Given the description of an element on the screen output the (x, y) to click on. 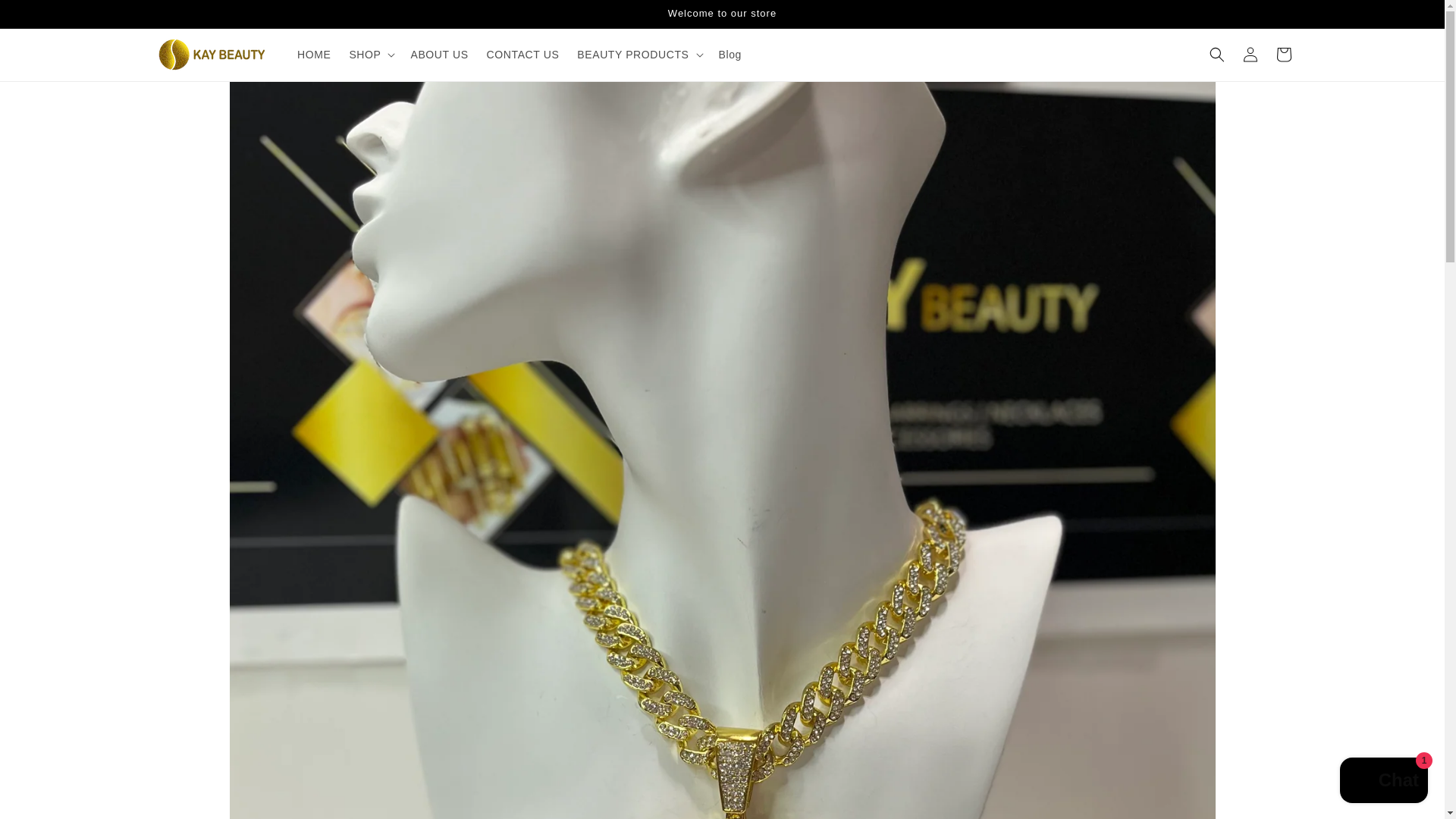
Log in (1249, 54)
ABOUT US (439, 54)
Shopify online store chat (1383, 781)
Cart (1283, 54)
HOME (313, 54)
CONTACT US (523, 54)
Skip to content (45, 17)
Blog (730, 54)
